Given the description of an element on the screen output the (x, y) to click on. 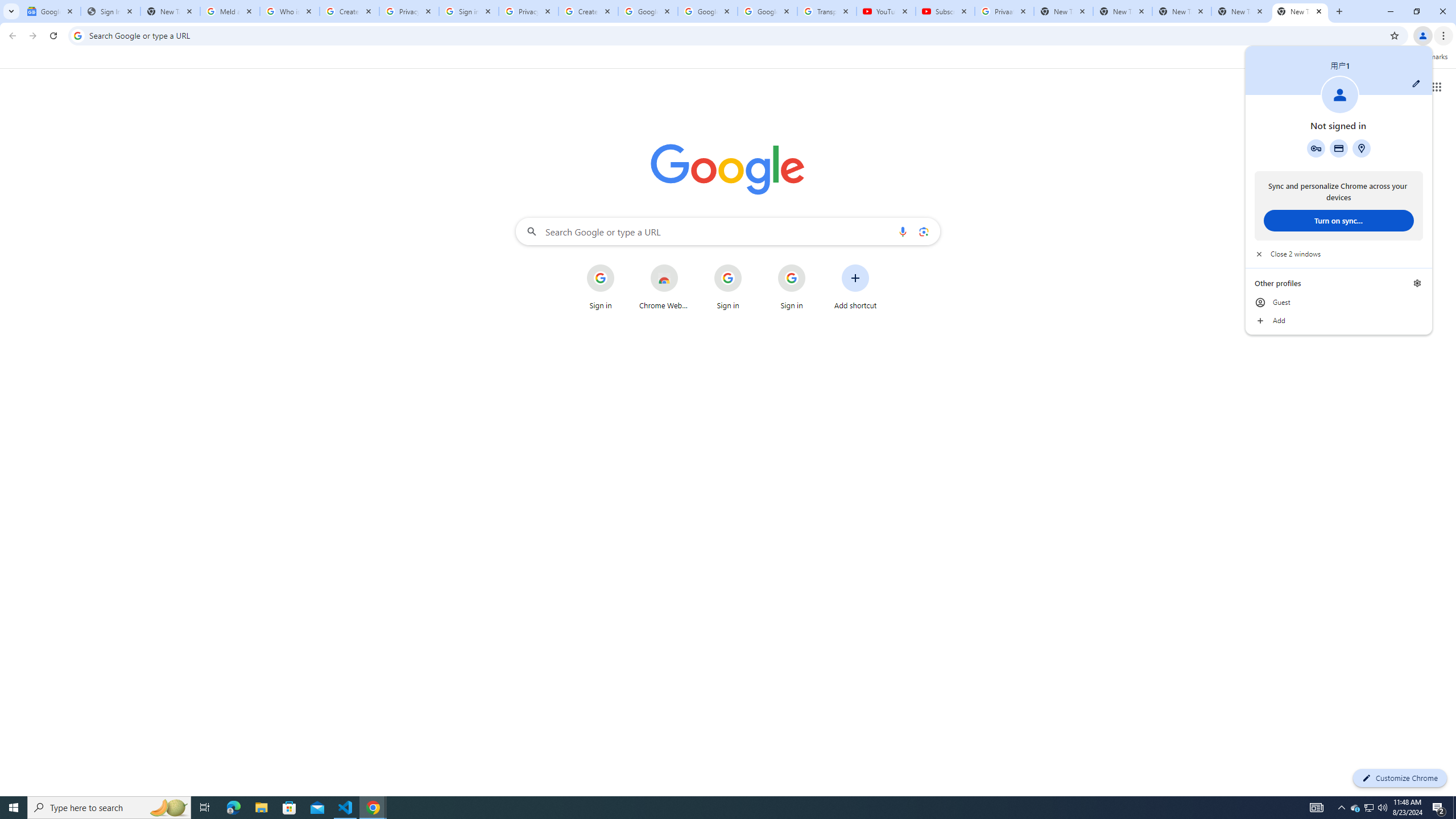
Q2790: 100% (1382, 807)
Payment methods (1355, 807)
Action Center, 2 new notifications (1338, 148)
Search highlights icon opens search home window (1439, 807)
